Given the description of an element on the screen output the (x, y) to click on. 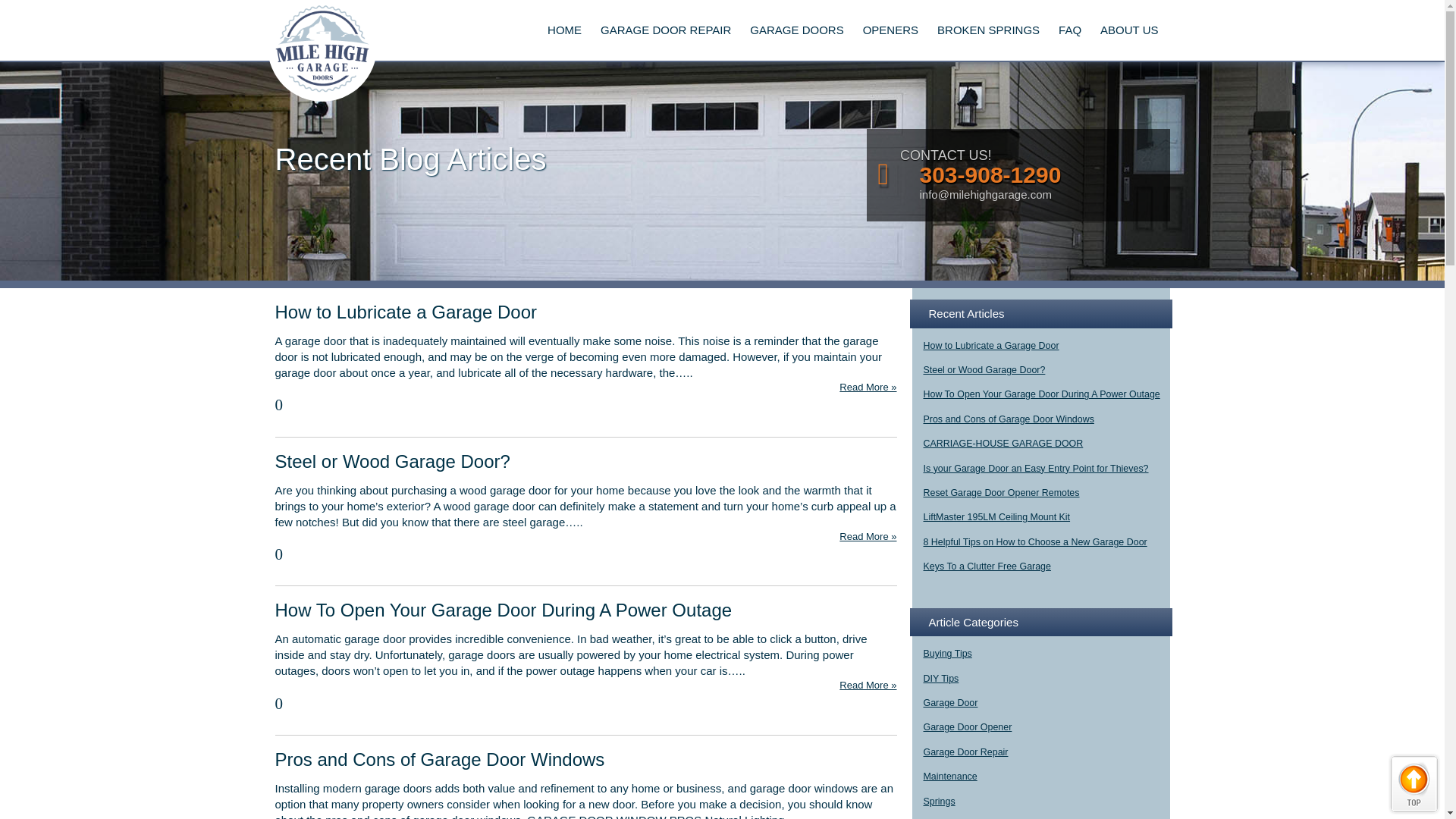
GARAGE DOOR REPAIR (665, 29)
How to Lubricate a Garage Door (406, 312)
Steel or Wood Garage Door? (392, 461)
Permalink to Pros and Cons of Garage Door Windows (439, 759)
Permalink to How to Lubricate a Garage Door (406, 312)
OPENERS (891, 29)
How To Open Your Garage Door During A Power Outage (503, 609)
Pros and Cons of Garage Door Windows (439, 759)
HOME (564, 29)
FAQ (1070, 29)
Permalink to Steel or Wood Garage Door? (392, 461)
BROKEN SPRINGS (988, 29)
GARAGE DOORS (796, 29)
Garage Door Sales and Repair (320, 50)
